Given the description of an element on the screen output the (x, y) to click on. 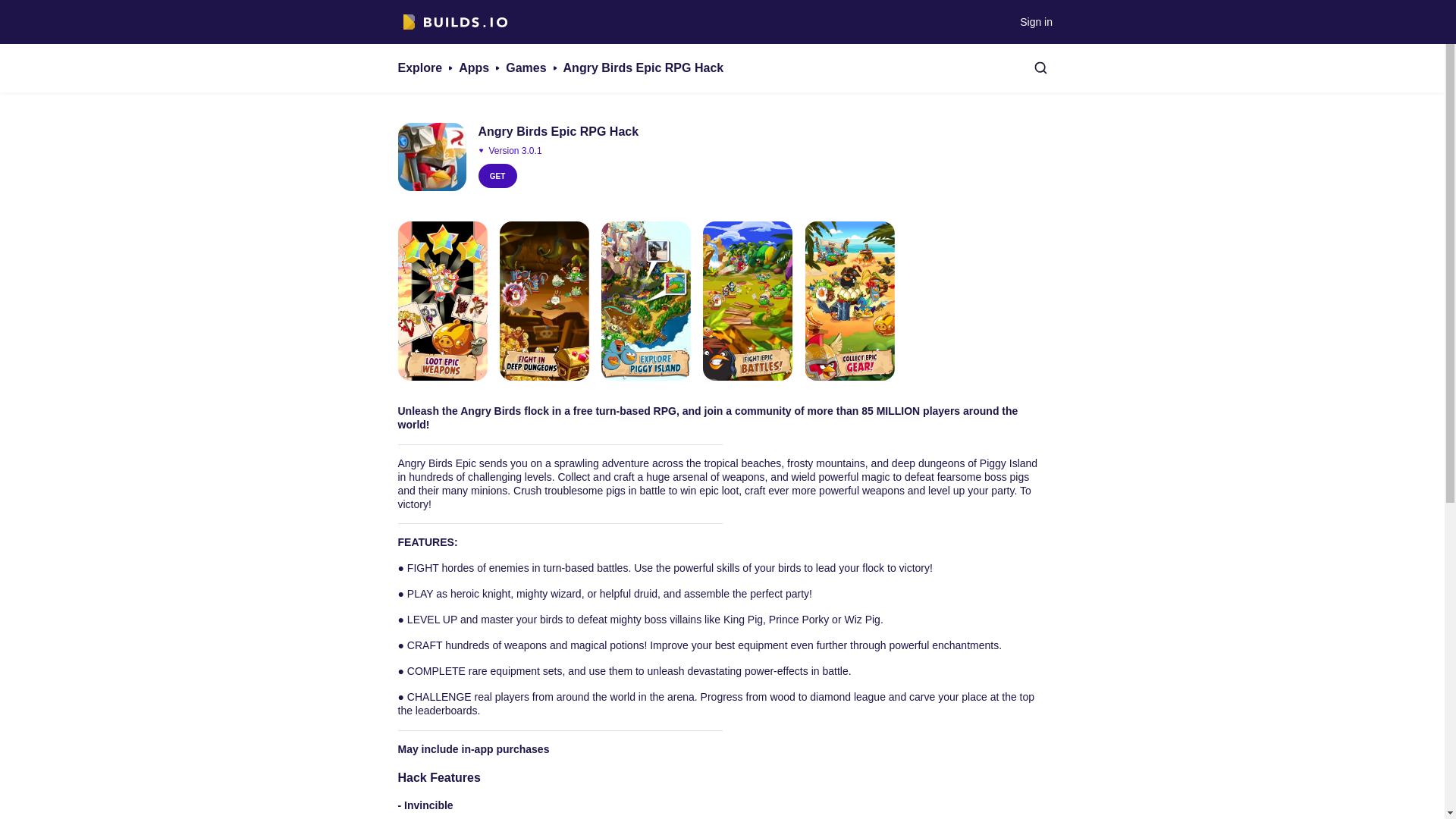
Explore (419, 67)
Apps (473, 67)
Games (525, 67)
GET (496, 175)
Sign in (1036, 21)
